Given the description of an element on the screen output the (x, y) to click on. 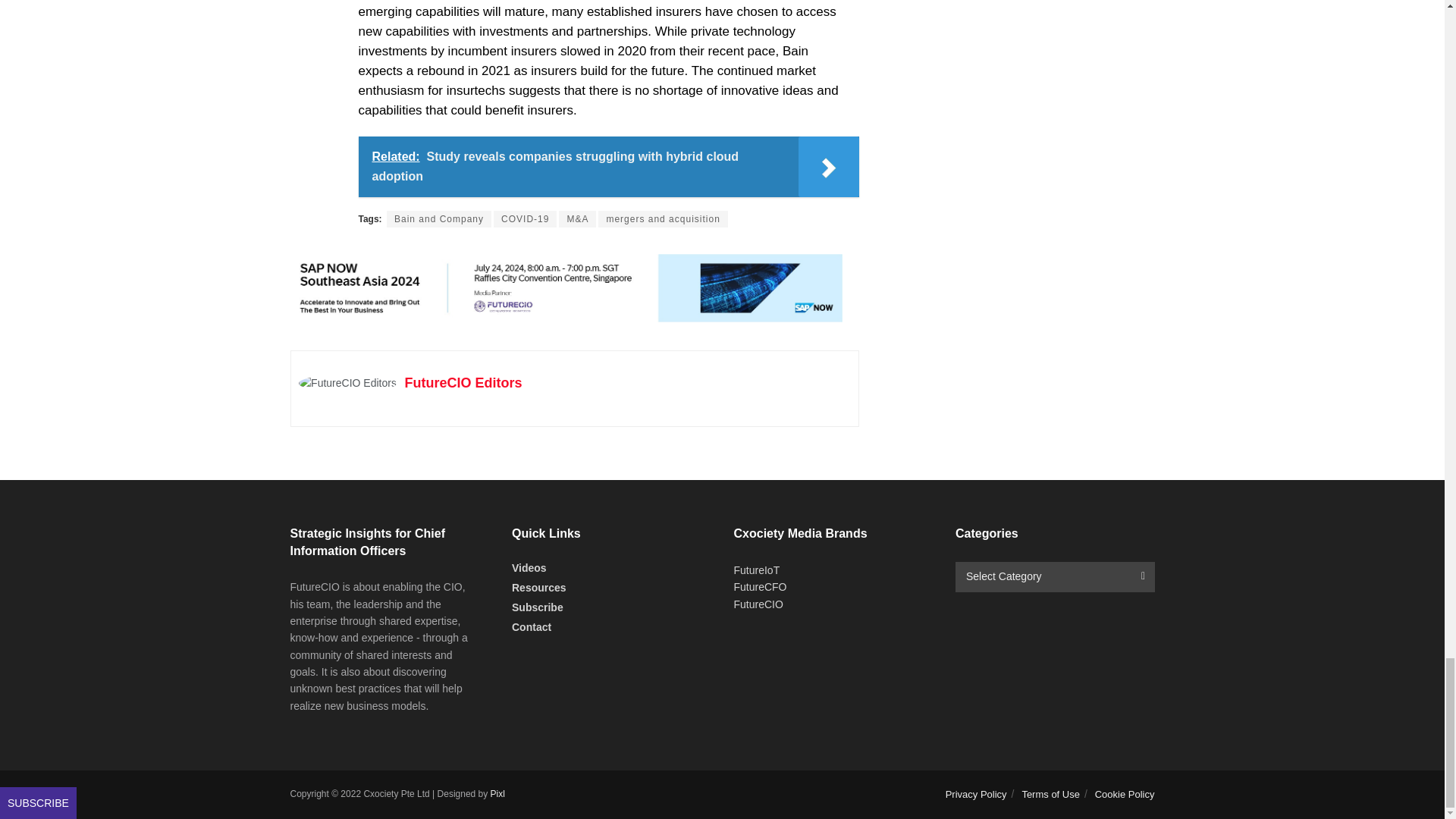
Pixl (497, 793)
